Given the description of an element on the screen output the (x, y) to click on. 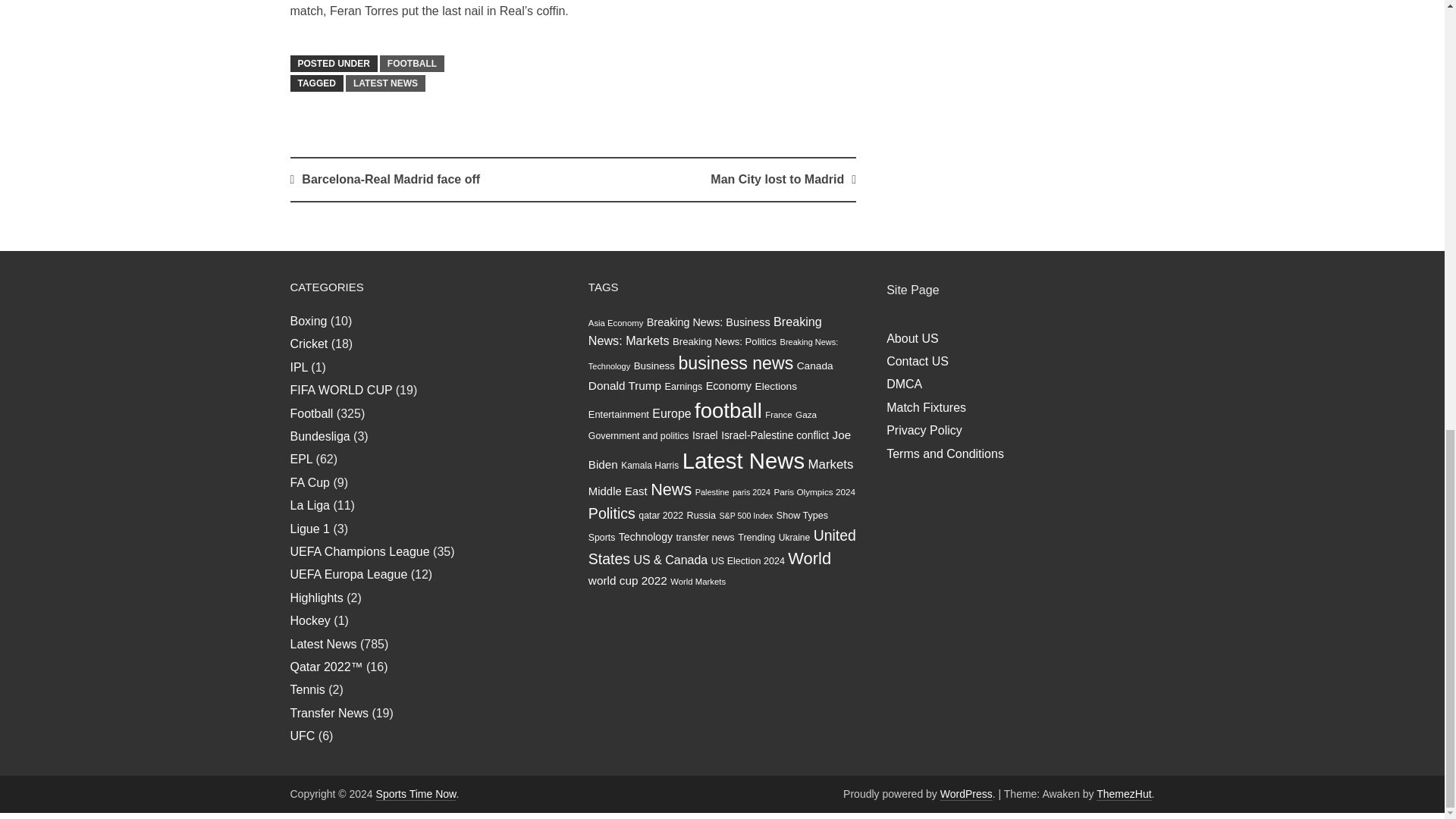
LATEST NEWS (385, 83)
FOOTBALL (412, 63)
WordPress (966, 793)
Sports Time Now (416, 793)
Barcelona-Real Madrid face off (390, 178)
Man City lost to Madrid (777, 178)
